Given the description of an element on the screen output the (x, y) to click on. 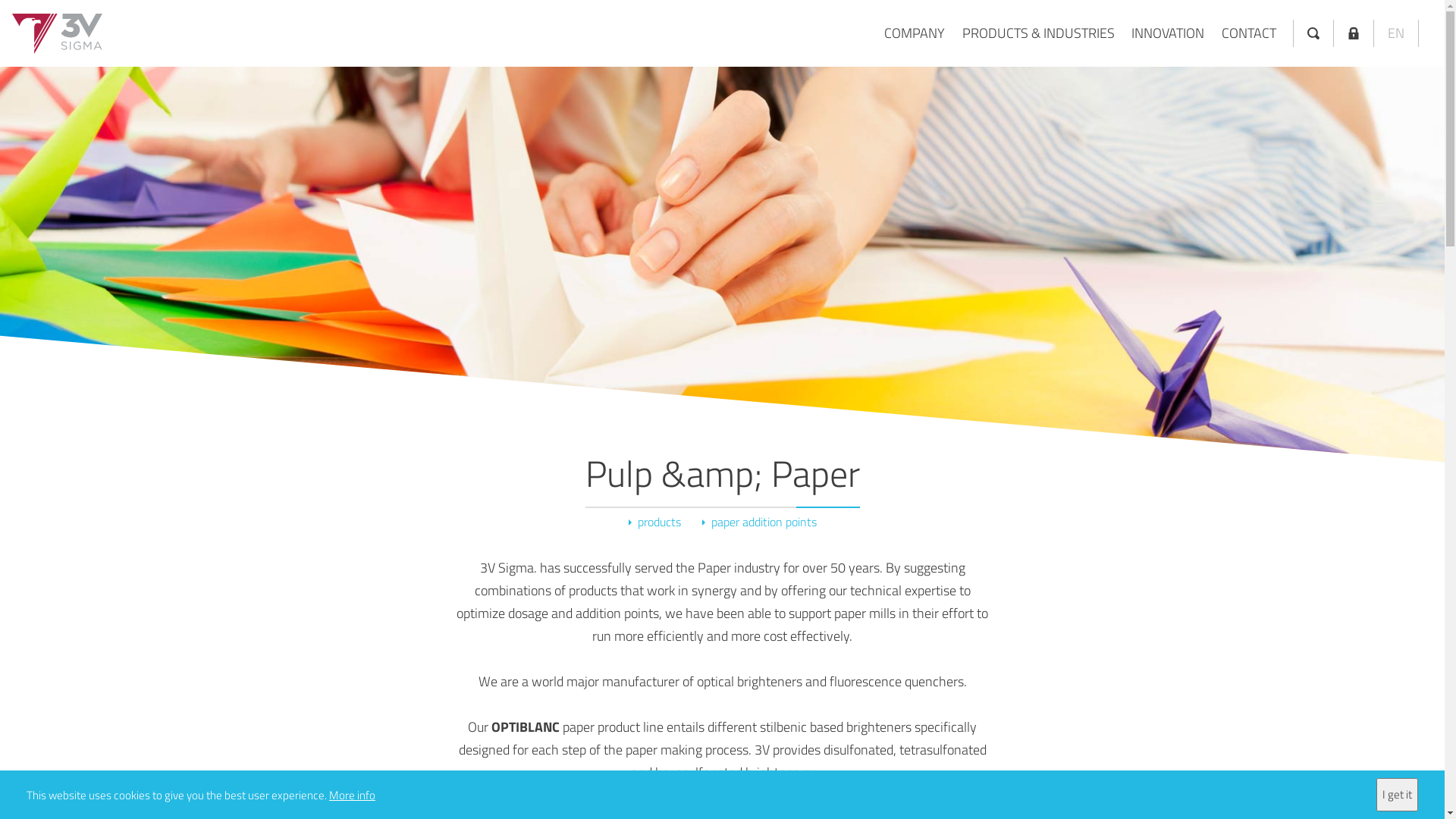
Log in Element type: hover (1353, 33)
EN Element type: text (1396, 33)
PRODUCTS & INDUSTRIES Element type: text (1037, 33)
paper addition points Element type: text (759, 522)
CONTACT Element type: text (1247, 33)
More info Element type: text (352, 794)
I get it Element type: text (1397, 794)
products Element type: text (653, 522)
3V Sigma Element type: hover (57, 33)
COMPANY Element type: text (914, 33)
INNOVATION Element type: text (1167, 33)
Search Element type: hover (1313, 33)
